Given the description of an element on the screen output the (x, y) to click on. 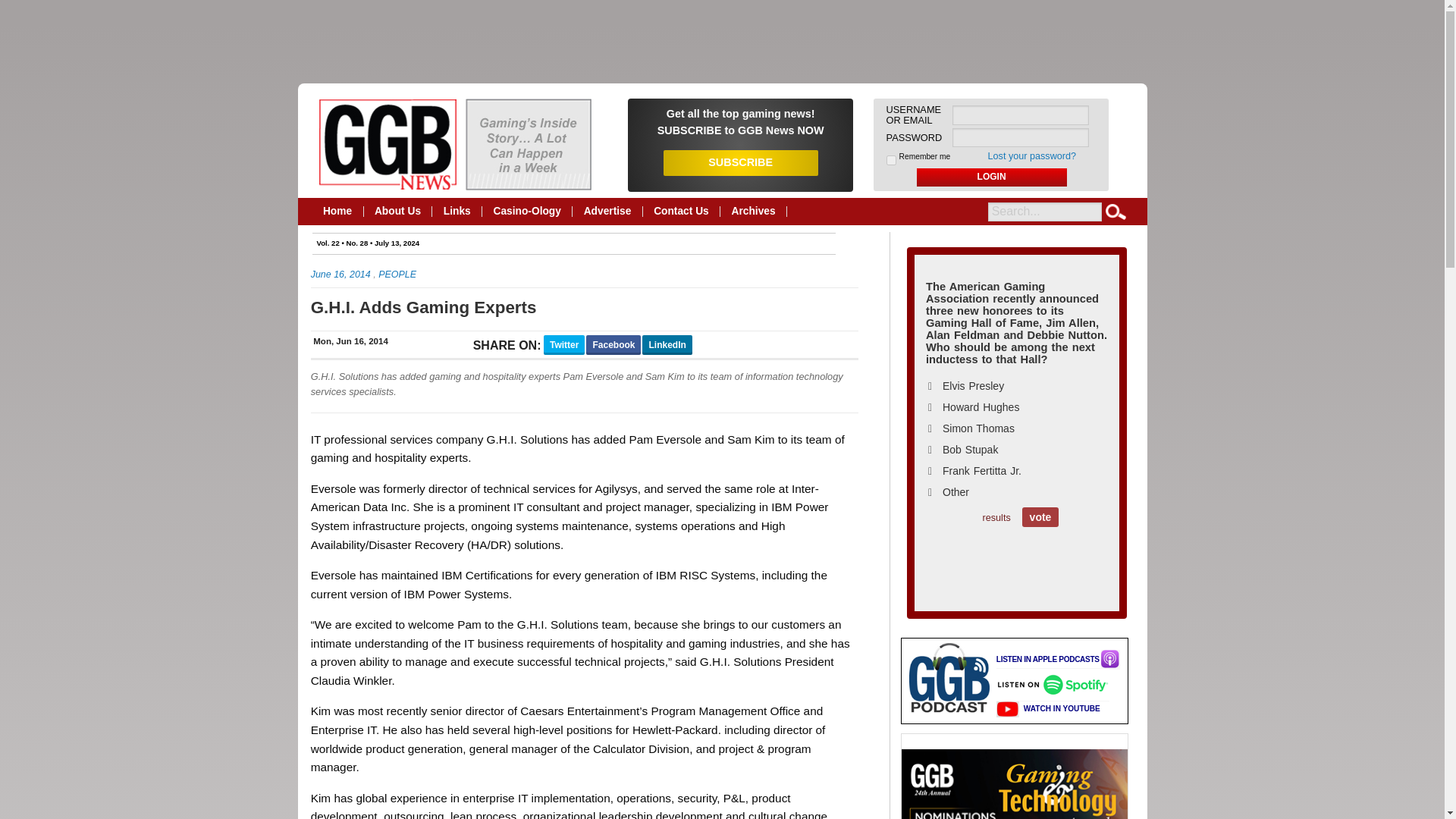
PEOPLE (397, 274)
Twitter (564, 344)
Home (338, 211)
3rd party ad content (721, 41)
1 (891, 160)
Login (992, 177)
LISTEN IN APPLE PODCASTS (1057, 659)
GGB Magazine Podcasts in iTunes (1057, 659)
Search for: (1045, 211)
LinkedIn (666, 344)
Facebook (613, 344)
Archives (753, 211)
Get all the top gaming news! SUBSCRIBE to GGB News NOW (741, 121)
WATCH IN YOUTUBE (1047, 708)
Links (456, 211)
